Given the description of an element on the screen output the (x, y) to click on. 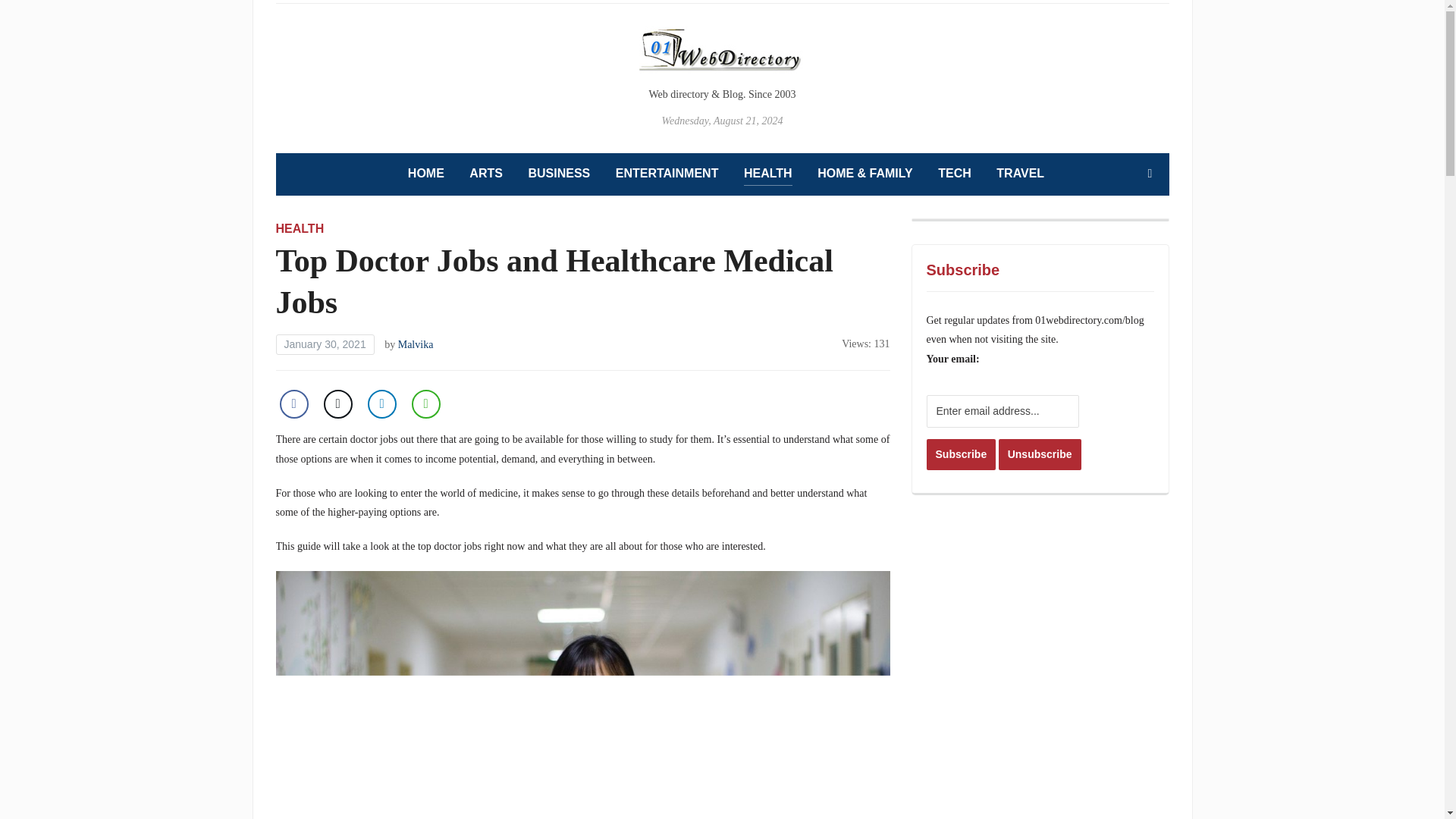
Subscribe (960, 454)
Unsubscribe (1039, 454)
Home (425, 173)
HOME (425, 173)
Enter email address... (1002, 410)
Search (1149, 173)
